Given the description of an element on the screen output the (x, y) to click on. 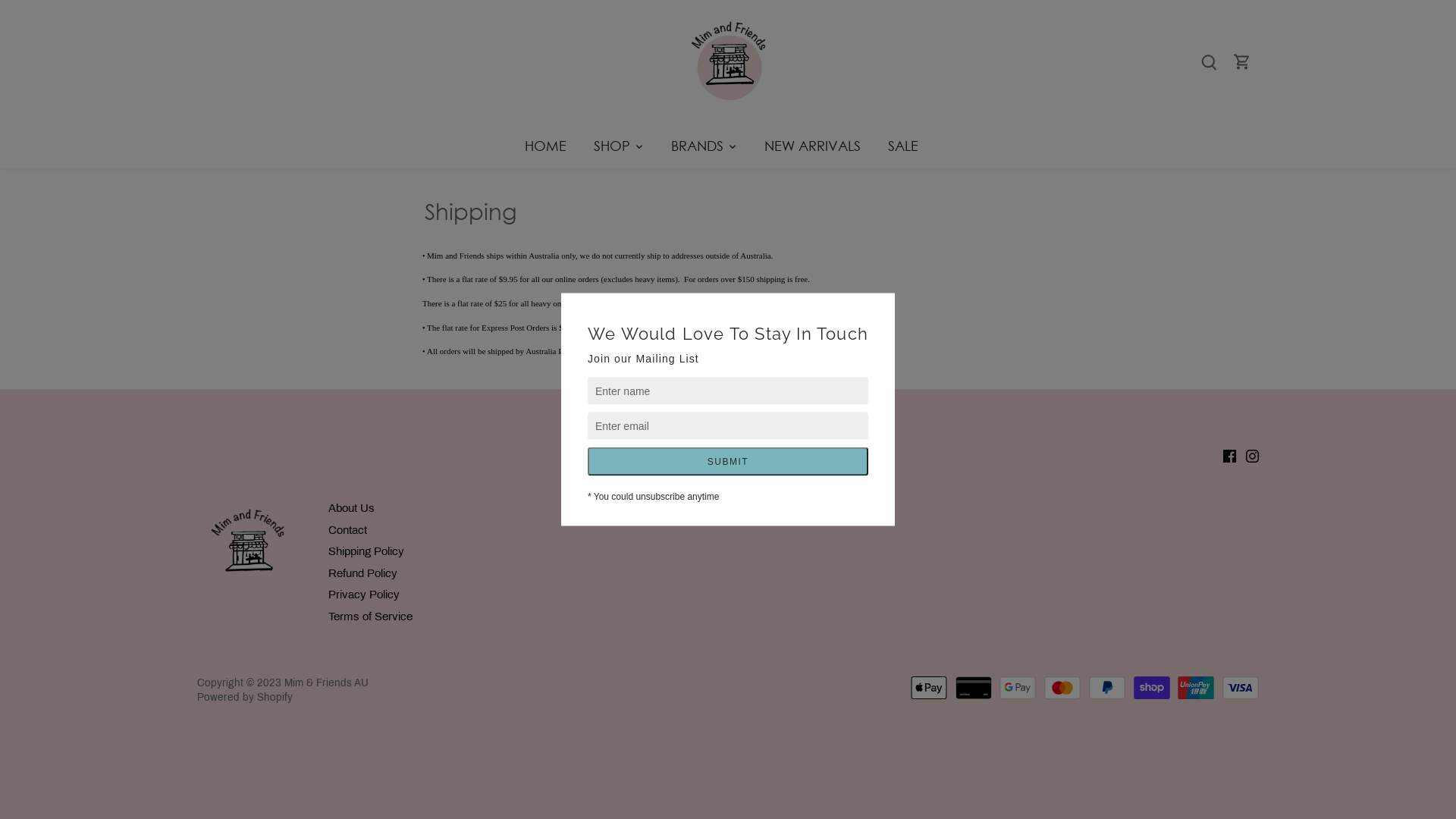
Privacy Policy Element type: text (363, 594)
Mim & Friends AU Element type: text (326, 682)
About Us Element type: text (351, 508)
Facebook Element type: text (1229, 456)
SHOP Element type: text (611, 145)
Instagram Element type: text (1251, 456)
Shipping Policy Element type: text (366, 551)
Powered by Shopify Element type: text (244, 696)
Back to the top Element type: text (727, 409)
NEW ARRIVALS Element type: text (812, 145)
Contact Element type: text (347, 530)
SALE Element type: text (902, 145)
BRANDS Element type: text (696, 145)
HOME Element type: text (552, 145)
Refund Policy Element type: text (362, 573)
Terms of Service Element type: text (370, 616)
Go to cart Element type: hover (1242, 61)
